Given the description of an element on the screen output the (x, y) to click on. 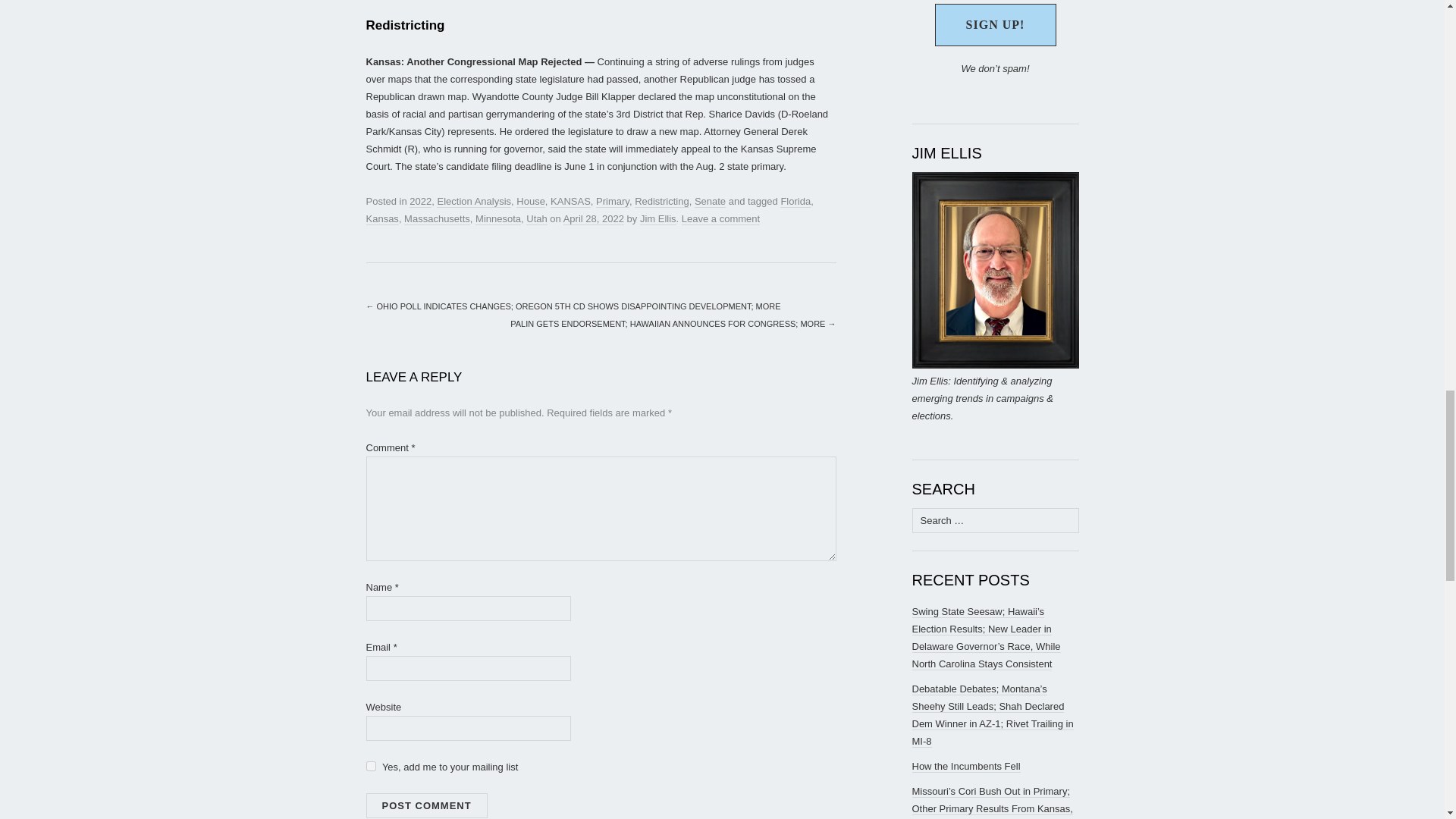
Sign up! (994, 24)
10:30 am (593, 218)
1 (370, 766)
Post Comment (425, 805)
View all posts by Jim Ellis (658, 218)
